Given the description of an element on the screen output the (x, y) to click on. 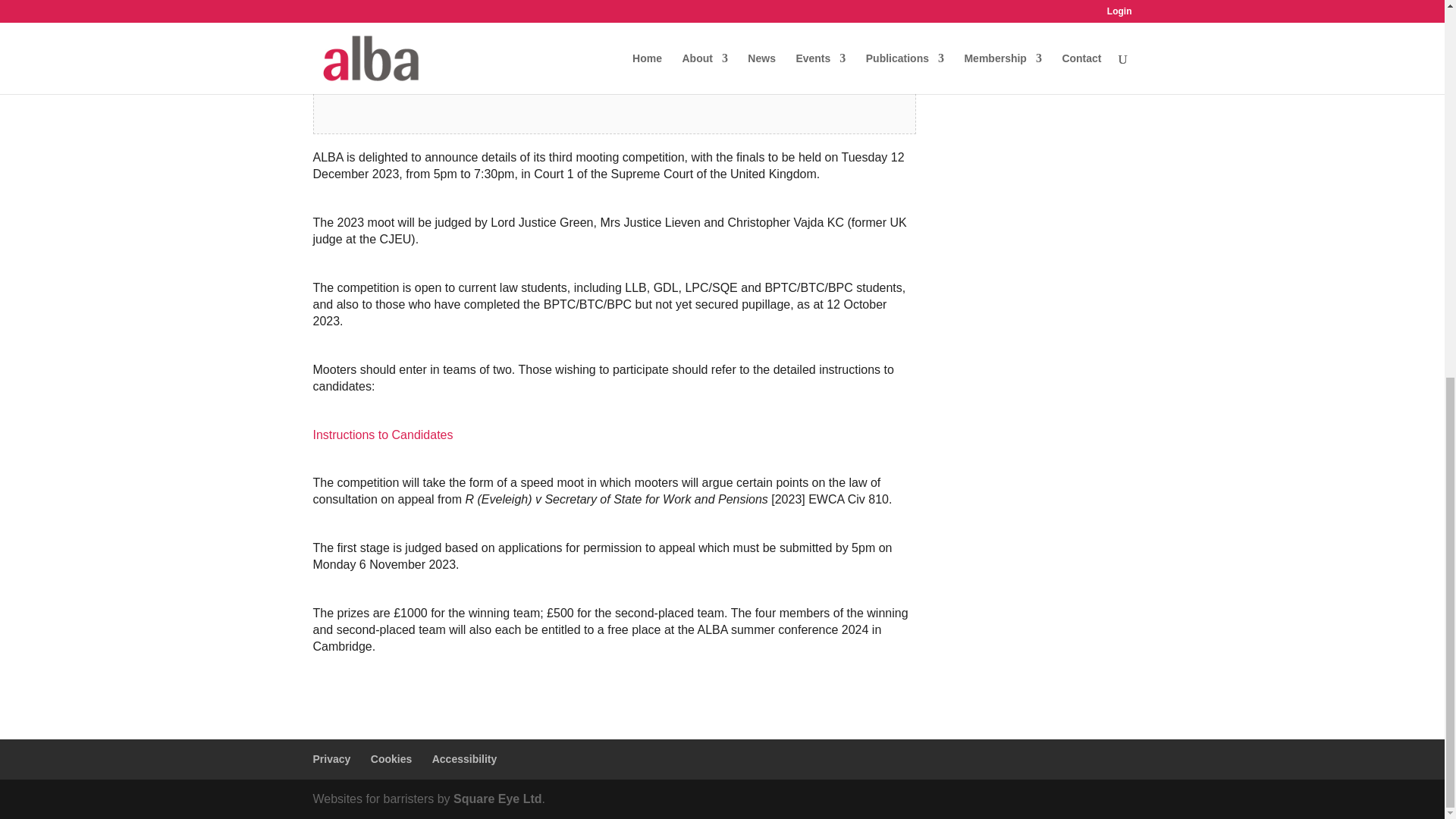
Square Eye Ltd (496, 798)
Instructions to Candidates (382, 434)
Privacy (331, 758)
Accessibility (464, 758)
Cookies (391, 758)
